Given the description of an element on the screen output the (x, y) to click on. 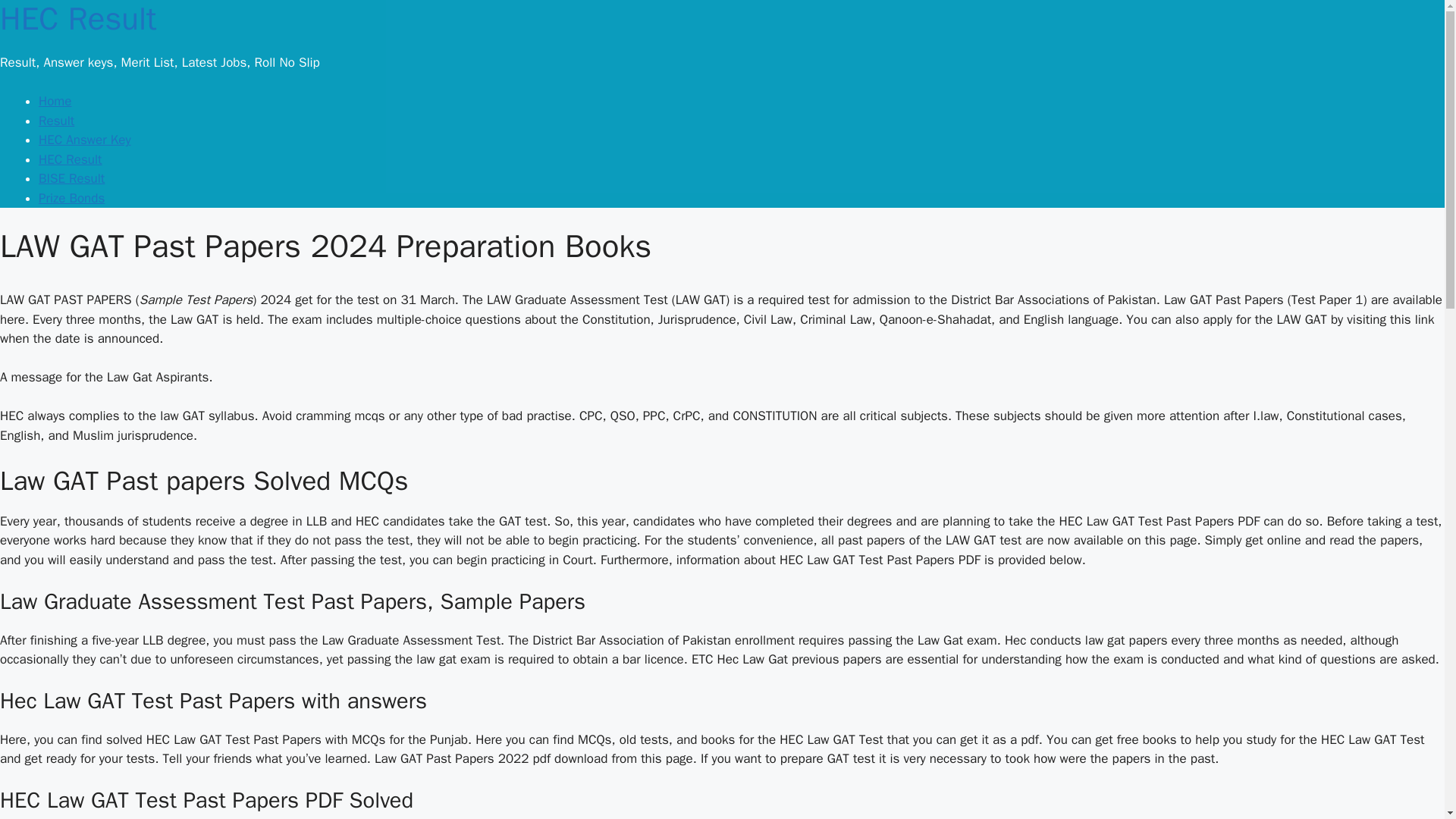
BISE Result (71, 178)
HEC Result (70, 159)
Home (77, 19)
HEC Result (77, 19)
Home (55, 100)
Result (56, 120)
HEC Answer Key (85, 139)
Prize Bonds (71, 198)
